Given the description of an element on the screen output the (x, y) to click on. 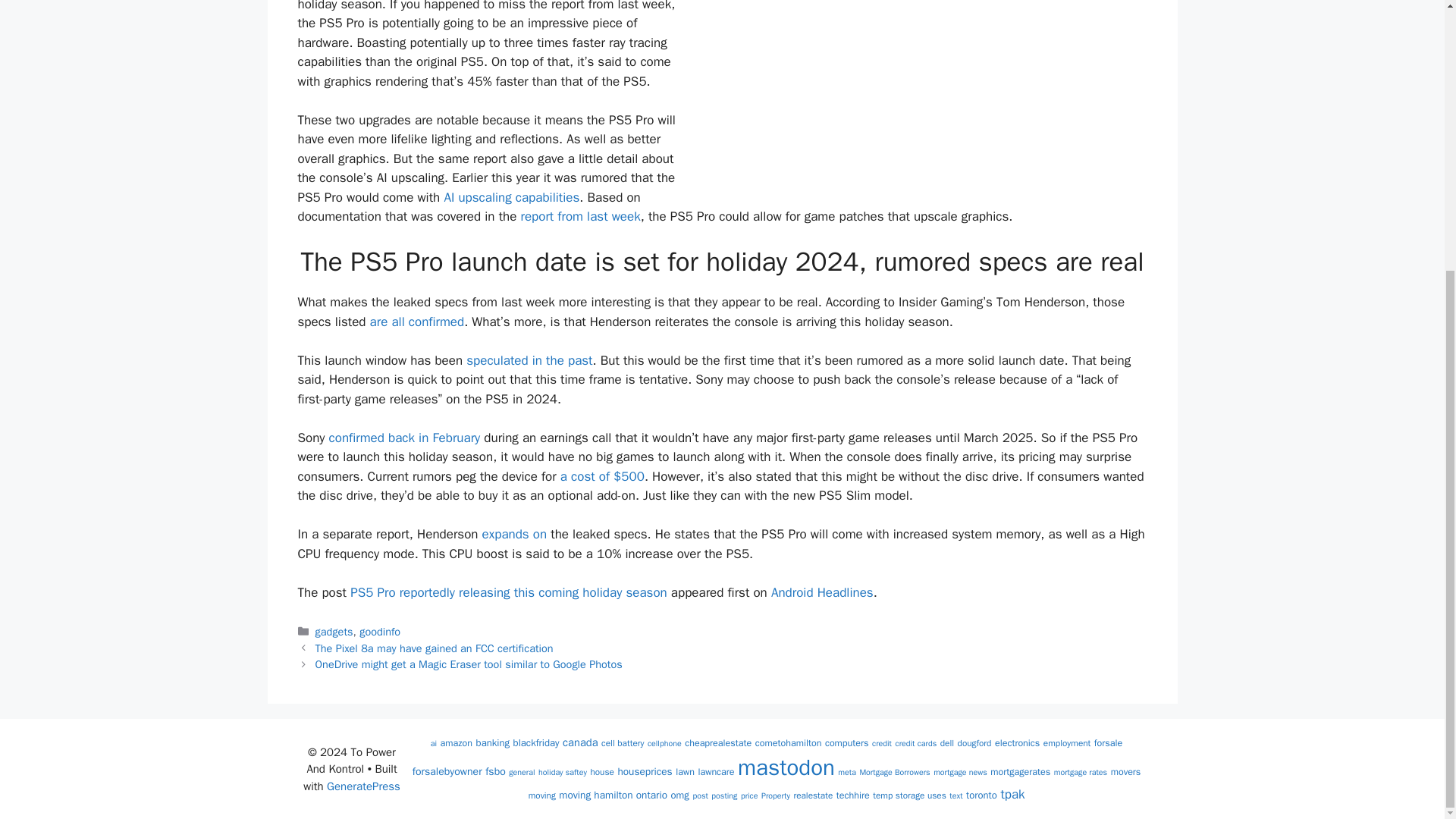
employment (1066, 742)
dougford (974, 742)
forsale (1108, 743)
confirmed back in February (404, 437)
goodinfo (379, 631)
Android Headlines (822, 592)
dell (946, 742)
are all confirmed (416, 321)
gadgets (334, 631)
expands on (514, 534)
